Given the description of an element on the screen output the (x, y) to click on. 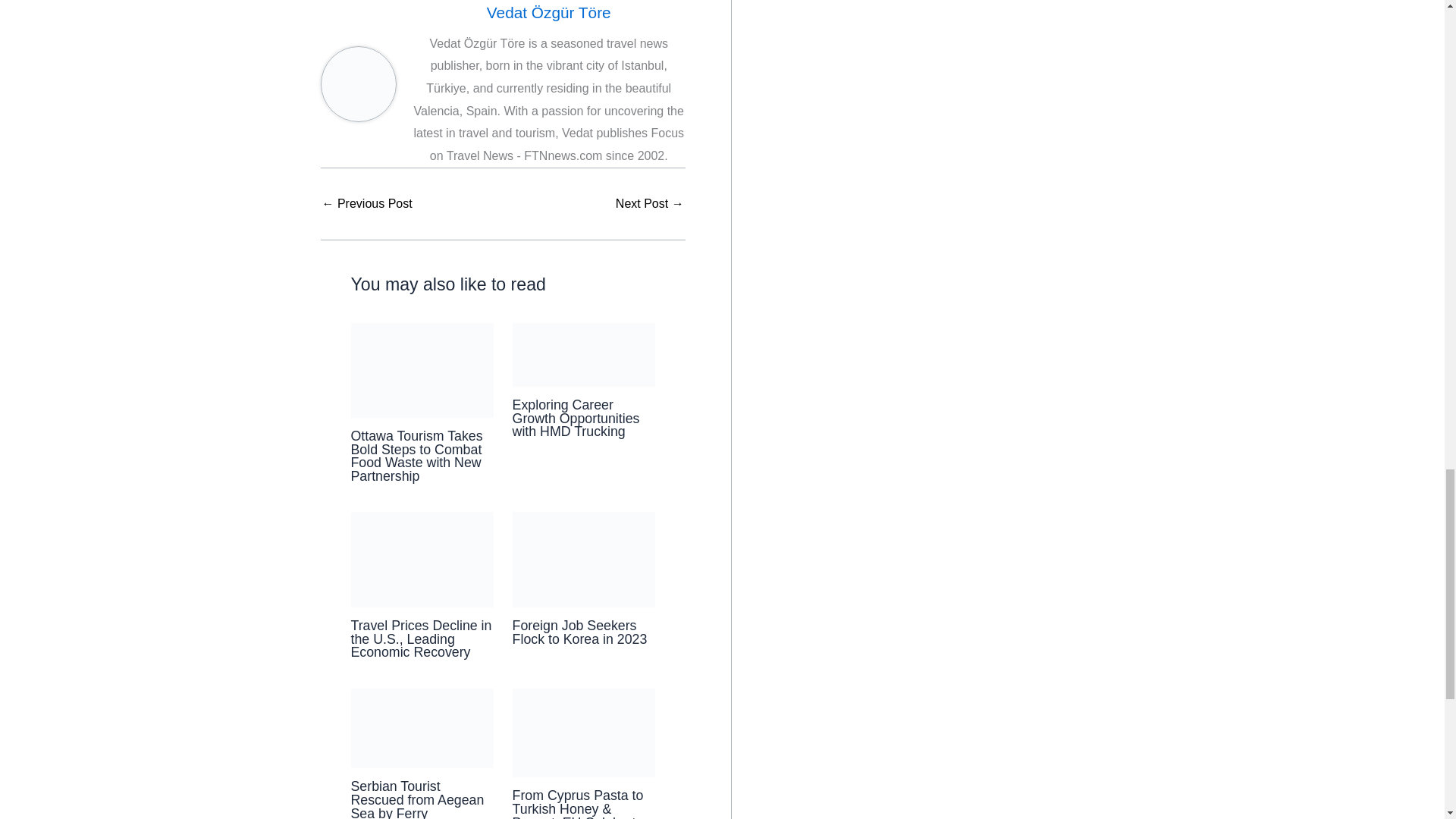
Fifth Ethnosport Culture Festival Begins in Istanbul (649, 203)
